Given the description of an element on the screen output the (x, y) to click on. 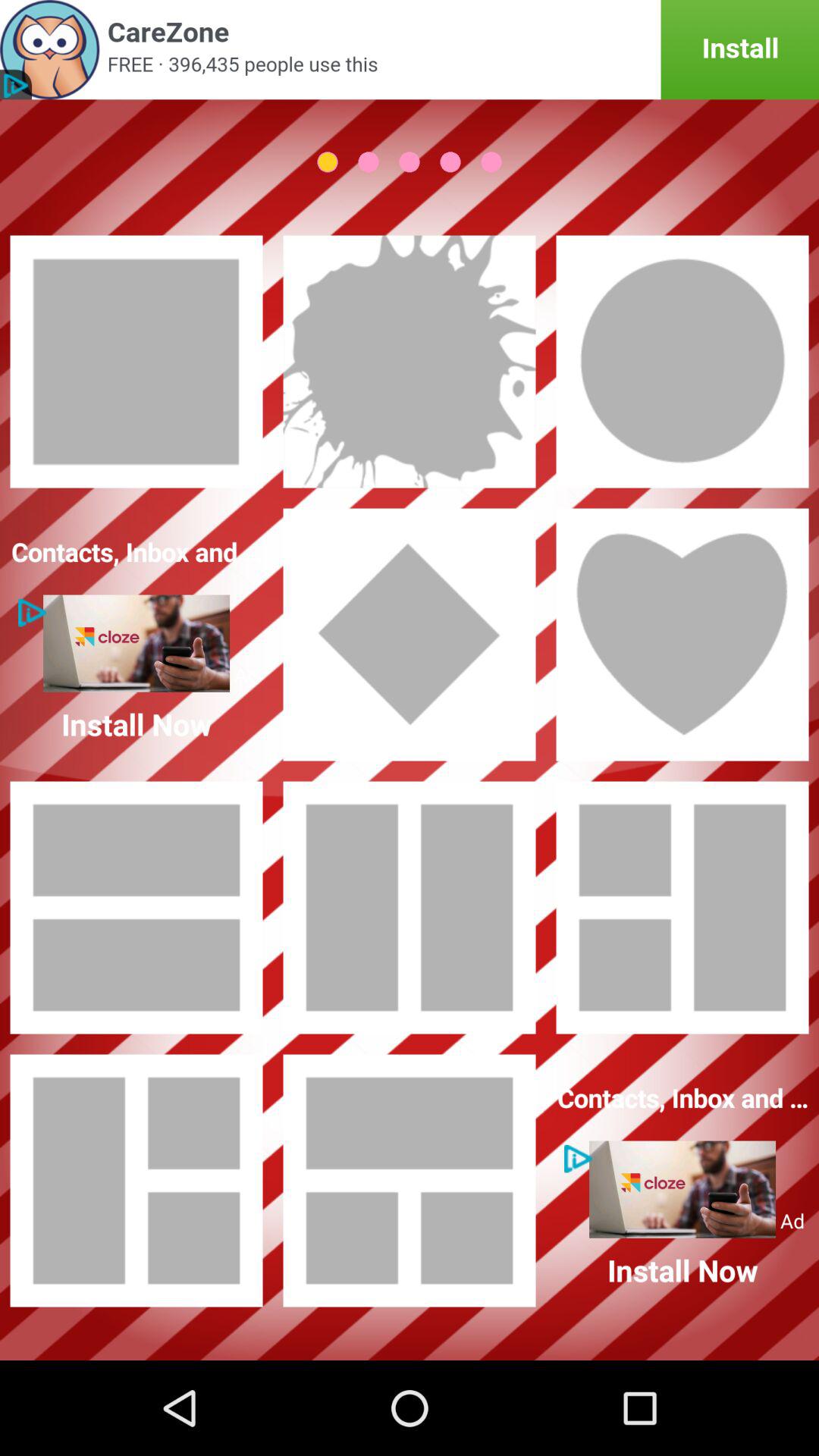
select template (682, 907)
